Given the description of an element on the screen output the (x, y) to click on. 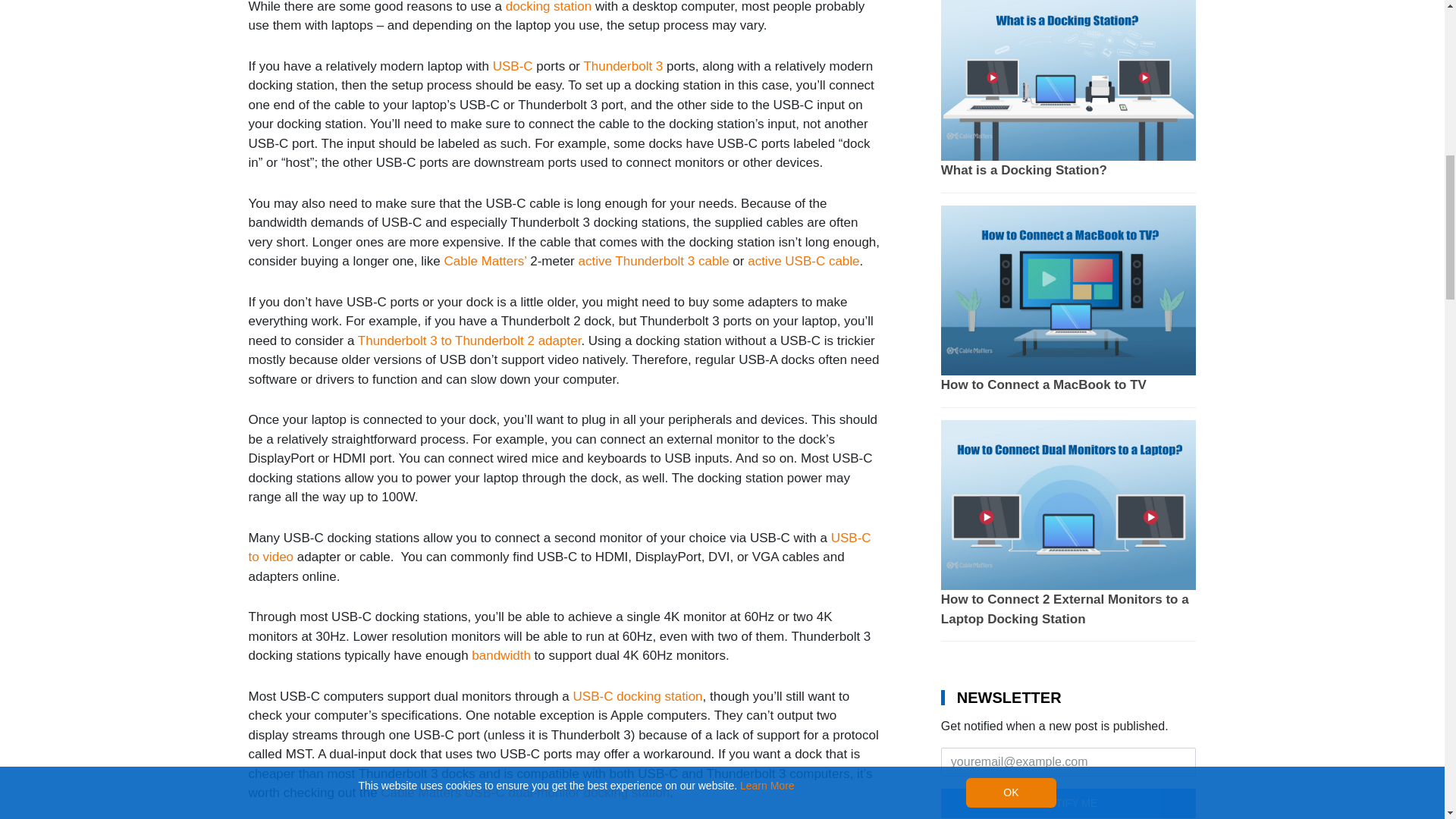
Notify me (1068, 803)
Thunderbolt 3 (622, 65)
USB-C (512, 65)
active USB-C cable (803, 260)
Thunderbolt 3 to Thunderbolt 2 adapter (469, 340)
USB-C to video (559, 547)
bandwidth (501, 655)
docking station (548, 6)
active Thunderbolt 3 cable (653, 260)
